Given the description of an element on the screen output the (x, y) to click on. 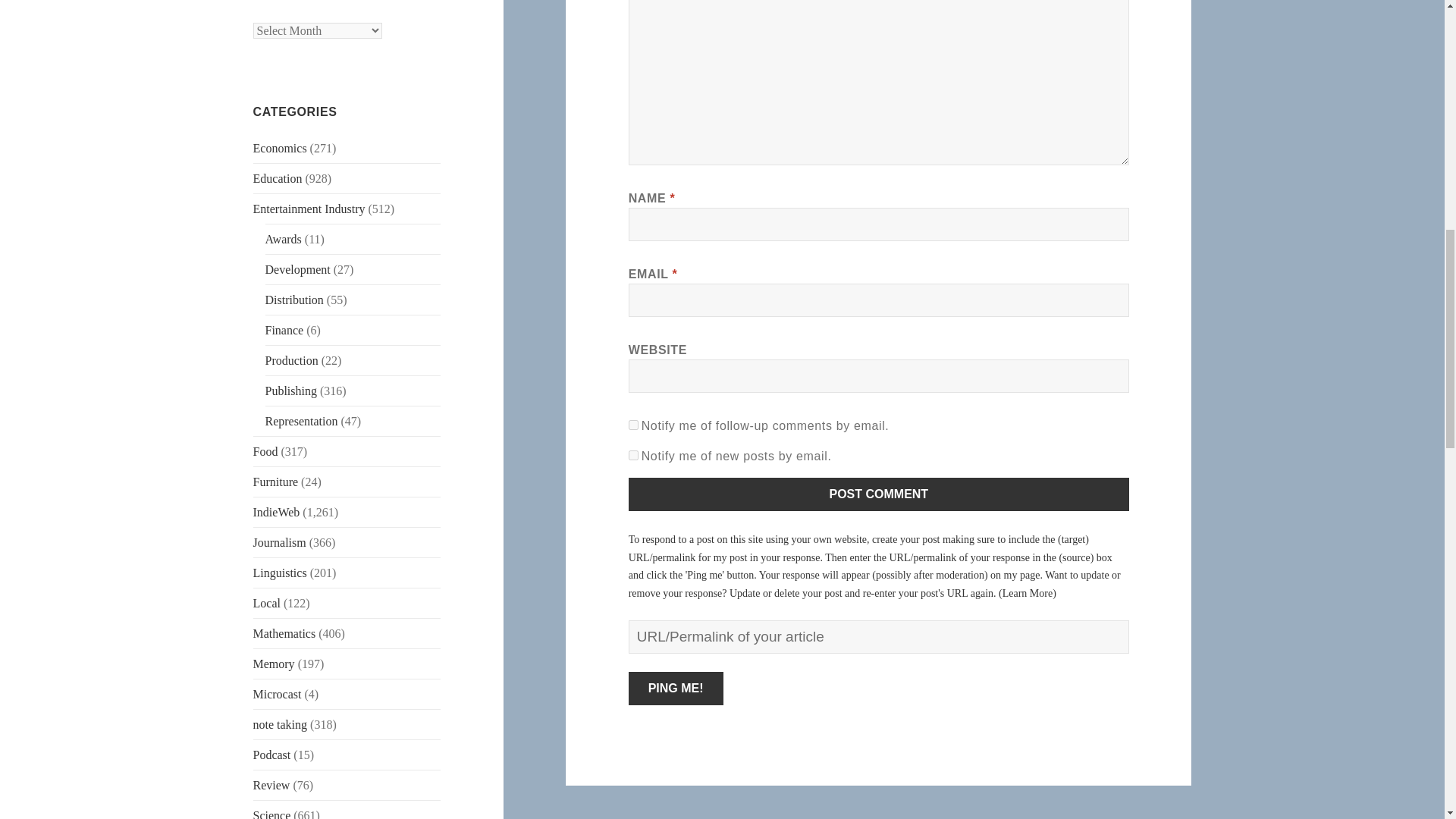
Ping me! (675, 688)
subscribe (633, 455)
Post Comment (878, 494)
subscribe (633, 424)
